Given the description of an element on the screen output the (x, y) to click on. 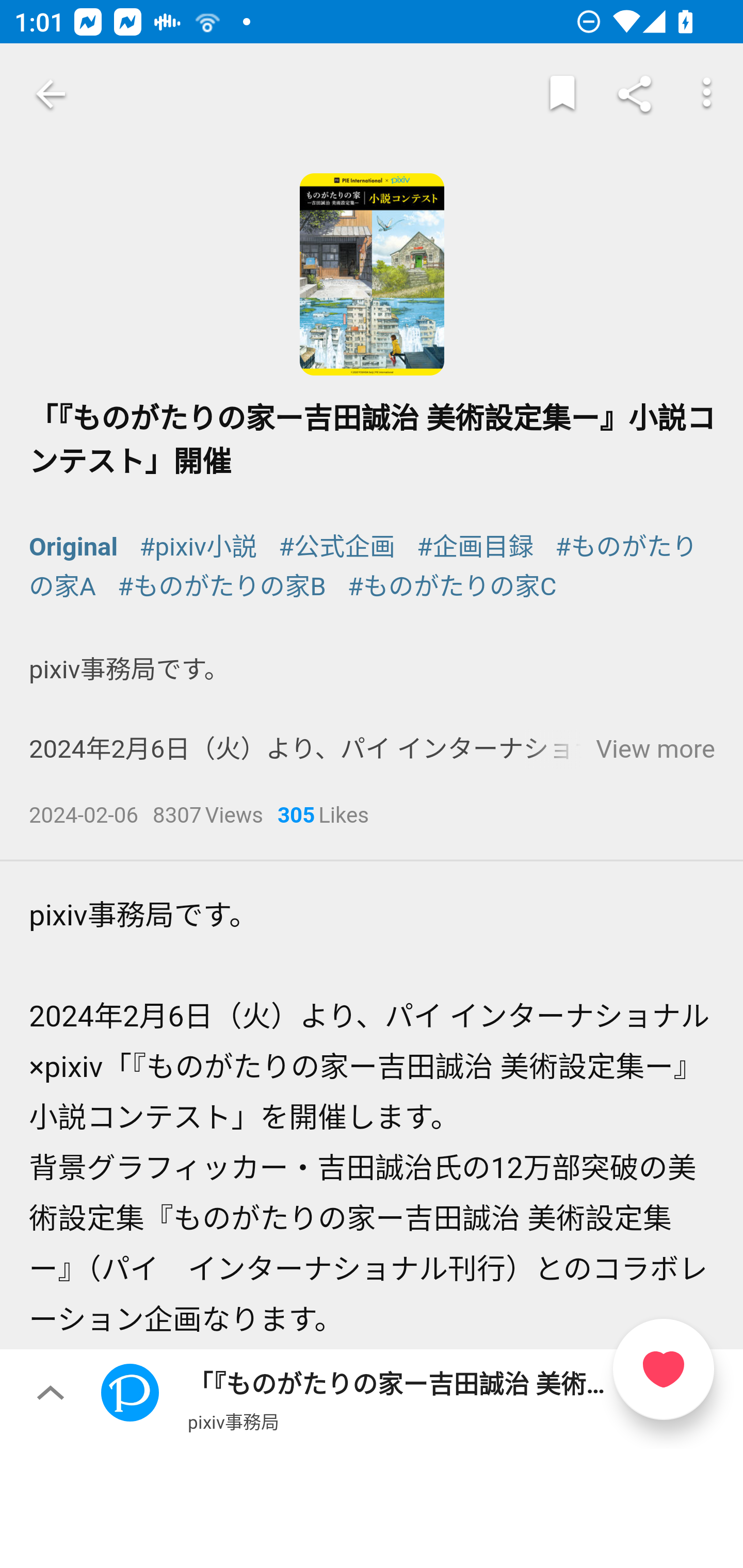
Navigate up (50, 93)
Markers (562, 93)
Share (634, 93)
More options (706, 93)
Original (73, 545)
#pixiv小説 (197, 545)
#公式企画 (337, 545)
#企画目録 (474, 545)
#ものがたりの家B (220, 586)
#ものがたりの家C (451, 586)
View more (654, 749)
305Likes (323, 816)
pixiv事務局 (233, 1421)
